Given the description of an element on the screen output the (x, y) to click on. 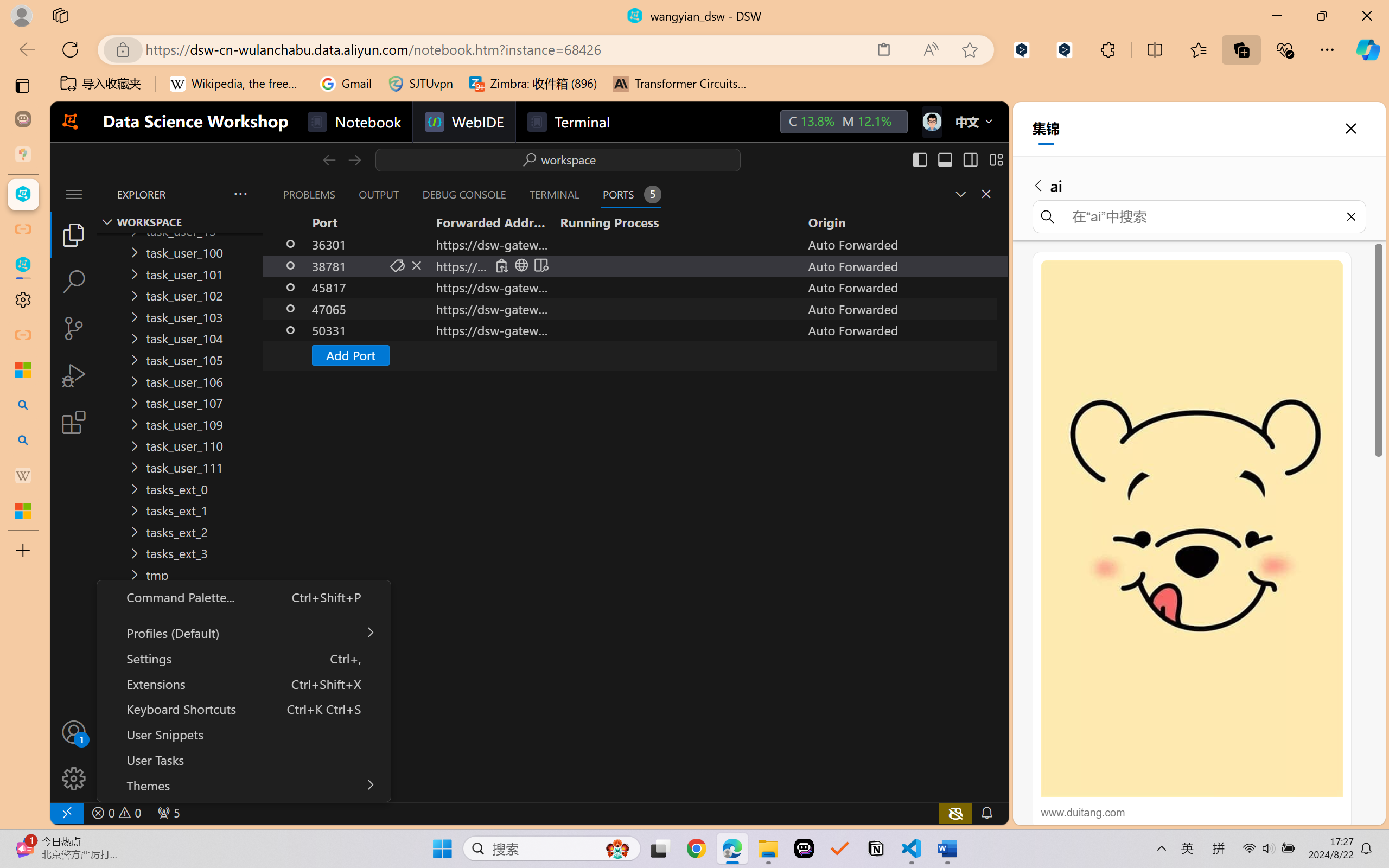
Preview in Editor (540, 265)
Source Control (Ctrl+Shift+G) (73, 328)
Terminal (568, 121)
Add Port (349, 354)
icon (930, 121)
Open in Browser (520, 265)
Search (Ctrl+Shift+F) (73, 281)
Extensions Ctrl+Shift+X (243, 683)
